Given the description of an element on the screen output the (x, y) to click on. 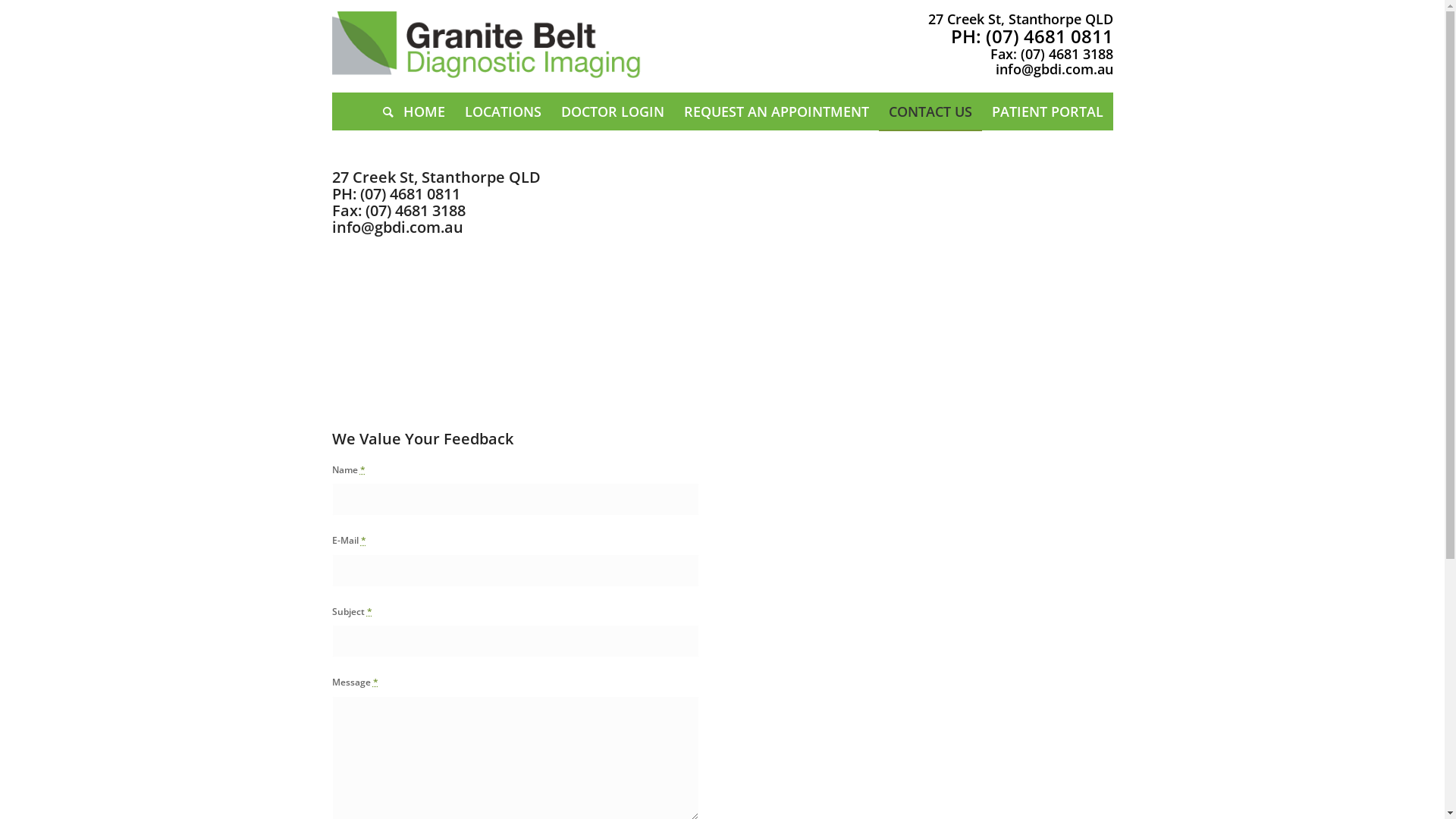
CONTACT US Element type: text (929, 111)
DOCTOR LOGIN Element type: text (611, 111)
View other locations Element type: text (377, 251)
REQUEST AN APPOINTMENT Element type: text (775, 111)
HOME Element type: text (423, 111)
LOCATIONS Element type: text (503, 111)
PATIENT PORTAL Element type: text (1046, 111)
